Given the description of an element on the screen output the (x, y) to click on. 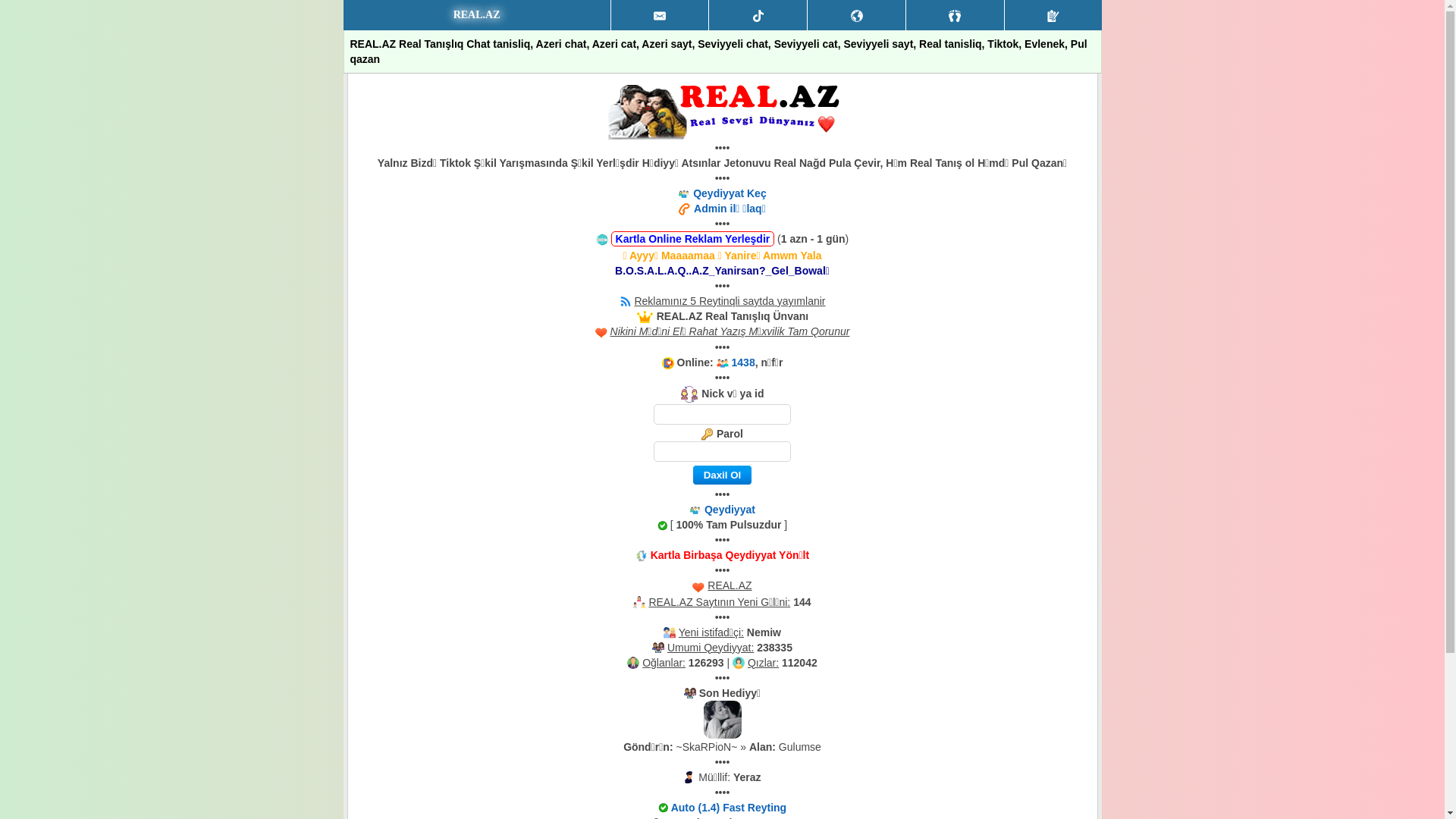
Mesajlar Element type: hover (660, 15)
Tiktok Element type: hover (757, 15)
Qeydiyyat Element type: hover (1052, 15)
Daxil Ol Element type: text (721, 474)
Auto (1.4) Fast Reyting Element type: text (728, 807)
Qeydiyyat Element type: text (729, 509)
1438 Element type: text (743, 362)
Bildirisler Element type: hover (856, 15)
nick Element type: hover (721, 414)
Parol Element type: hover (721, 451)
Qonaqlar Element type: hover (955, 15)
